Given the description of an element on the screen output the (x, y) to click on. 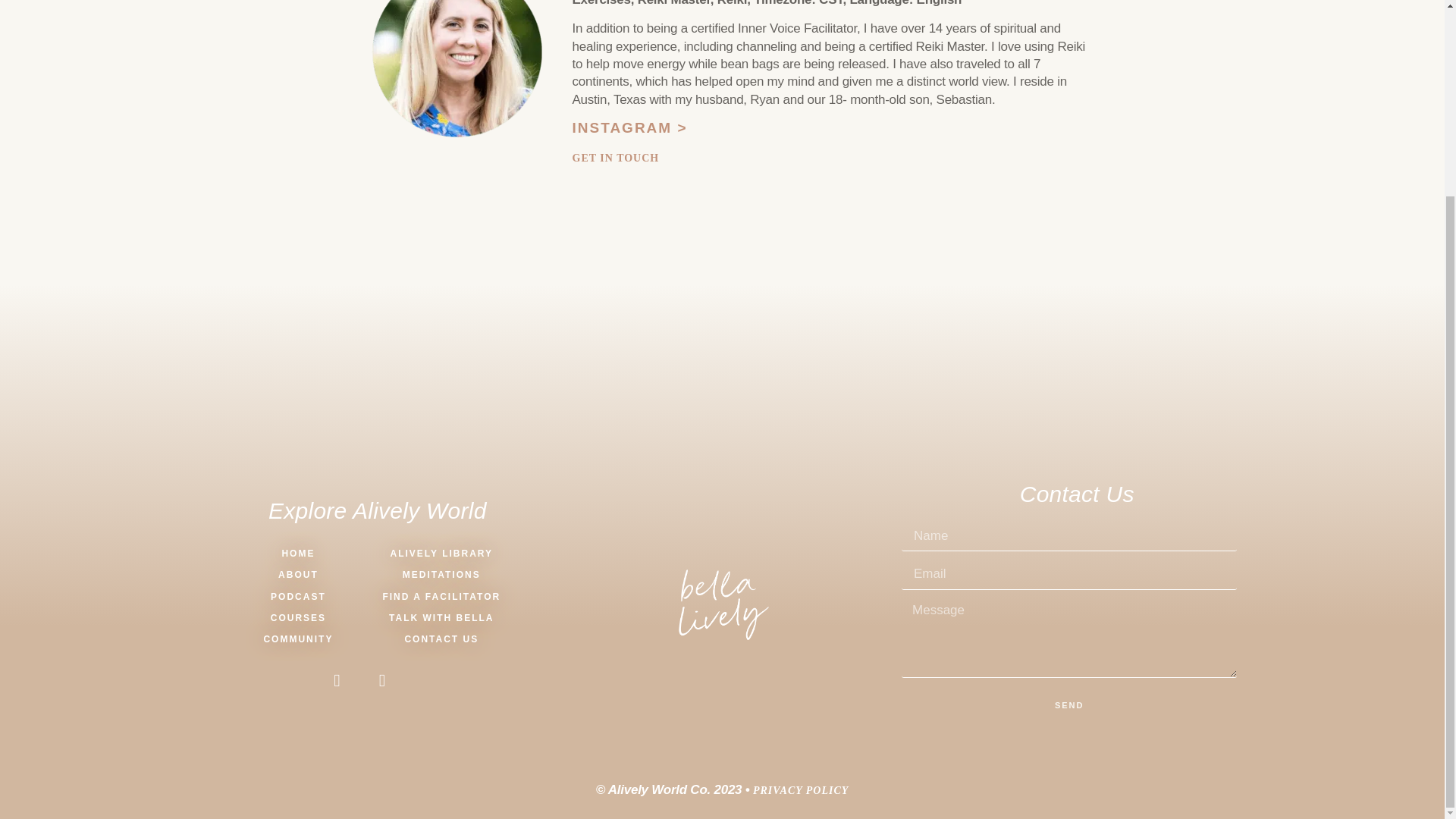
PRIVACY POLICY (800, 790)
HOME (298, 553)
COMMUNITY (298, 639)
CONTACT US (441, 639)
COURSES (298, 618)
PODCAST (298, 597)
SEND (1069, 705)
MEDITATIONS (441, 574)
GET IN TOUCH (615, 157)
TALK WITH BELLA (441, 618)
